Given the description of an element on the screen output the (x, y) to click on. 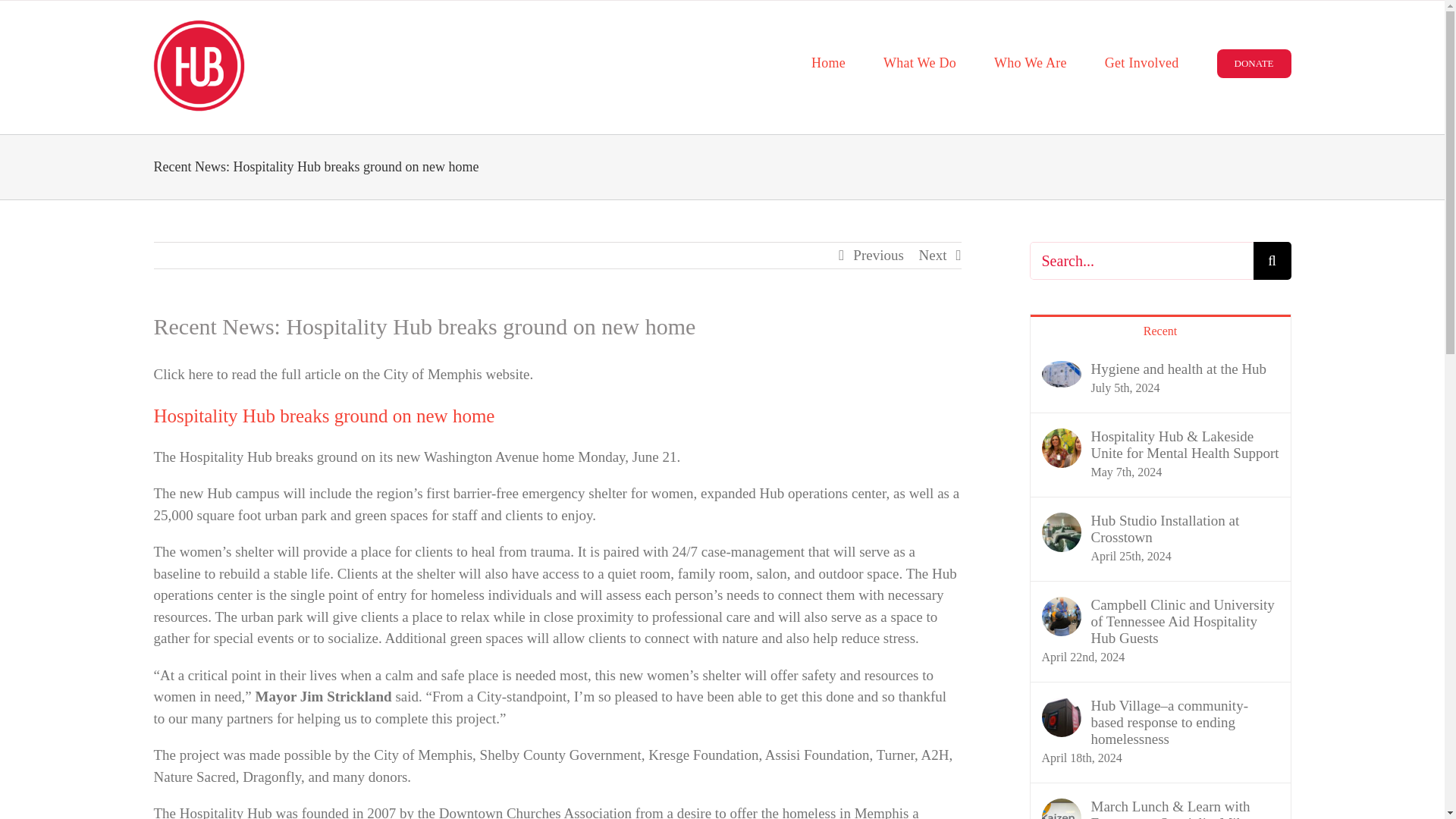
DONATE (1254, 63)
What We Do (919, 63)
Who We Are (1030, 63)
Get Involved (1142, 63)
